Given the description of an element on the screen output the (x, y) to click on. 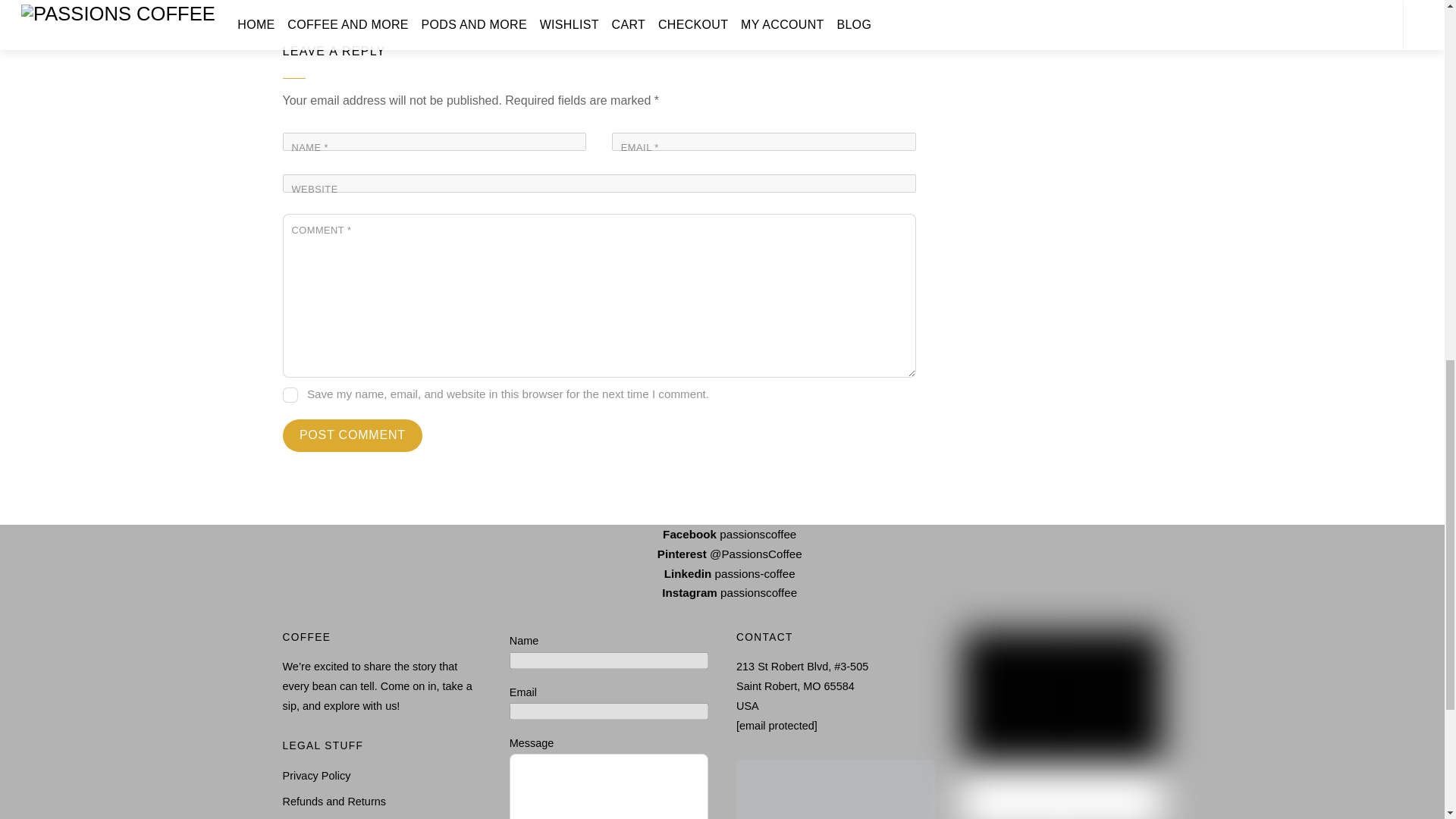
Privacy Policy (316, 775)
Post Comment (352, 435)
yes (289, 394)
Instagram passionscoffee (721, 592)
Refunds and Returns (333, 801)
Linkedin passions-coffee (721, 572)
Post Comment (352, 435)
Facebook passionscoffee (721, 533)
